Given the description of an element on the screen output the (x, y) to click on. 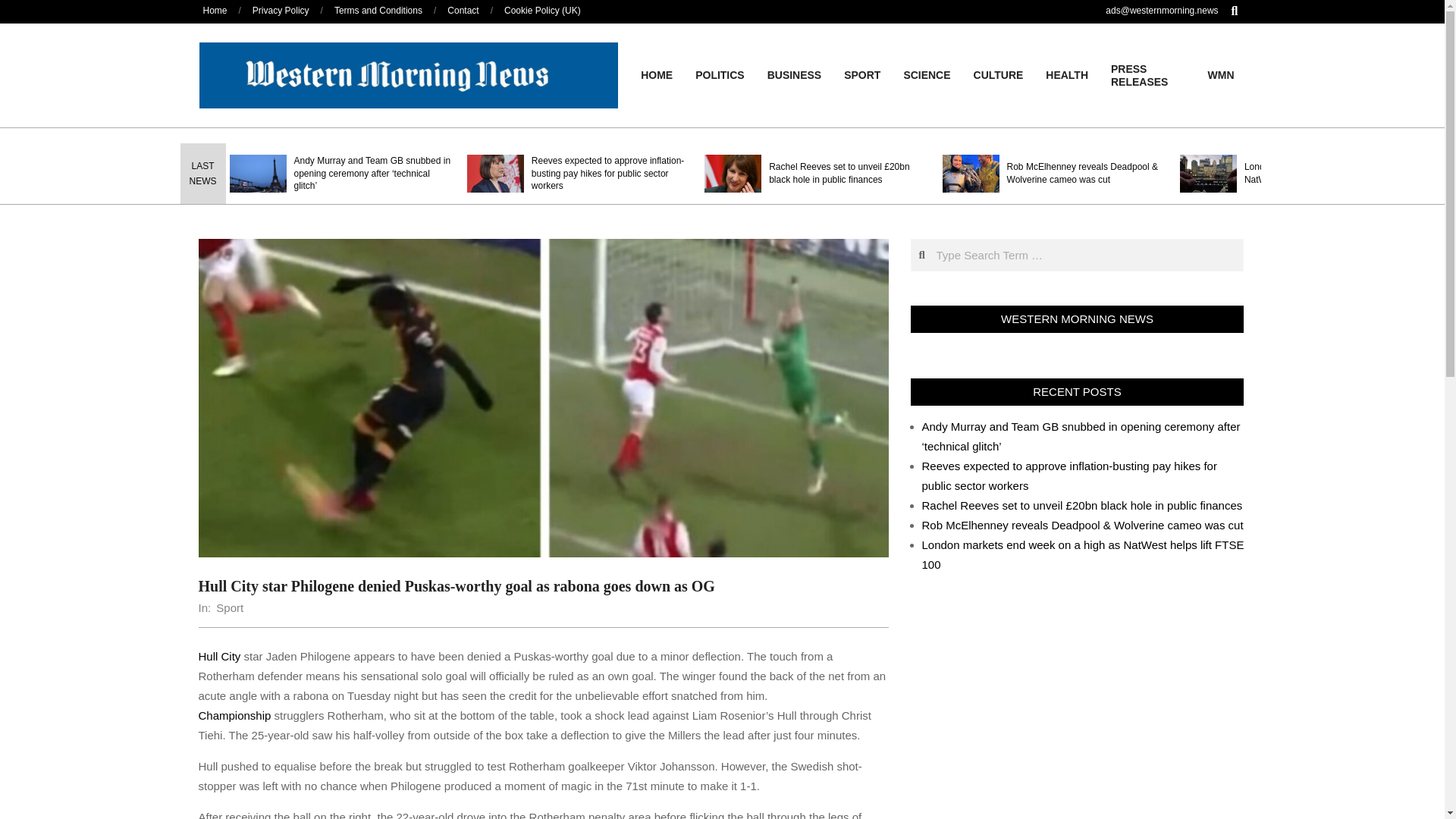
Home (215, 9)
SPORT (861, 74)
BUSINESS (793, 74)
HEALTH (1066, 74)
Sport (229, 607)
POLITICS (719, 74)
HOME (656, 74)
Terms and Conditions (378, 9)
CULTURE (998, 74)
Privacy Policy (279, 9)
PRESS RELEASES (1147, 75)
SCIENCE (925, 74)
WMN (1221, 74)
Search (21, 8)
